Given the description of an element on the screen output the (x, y) to click on. 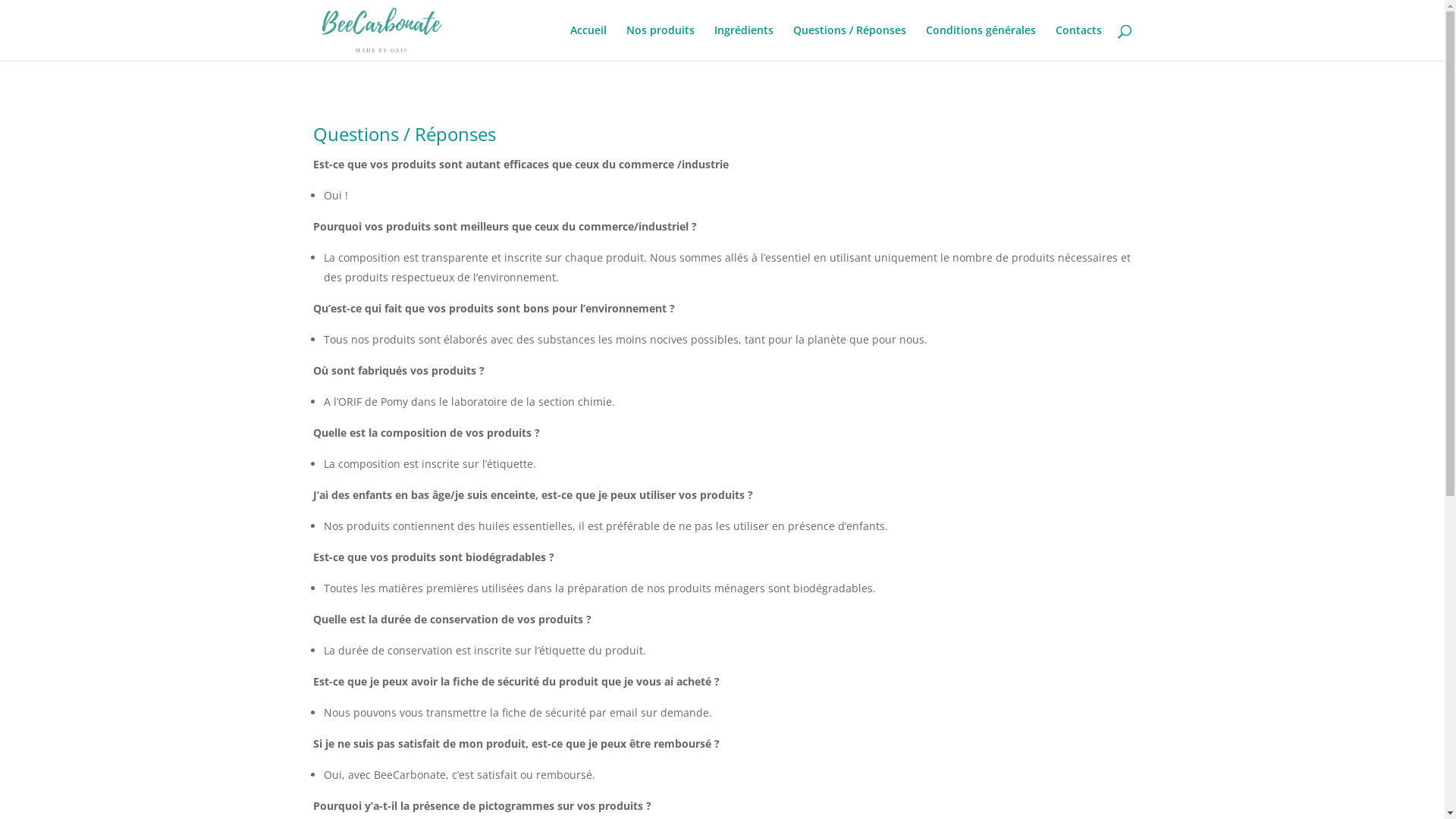
Accueil Element type: text (588, 42)
Nos produits Element type: text (660, 42)
Contacts Element type: text (1078, 42)
